Given the description of an element on the screen output the (x, y) to click on. 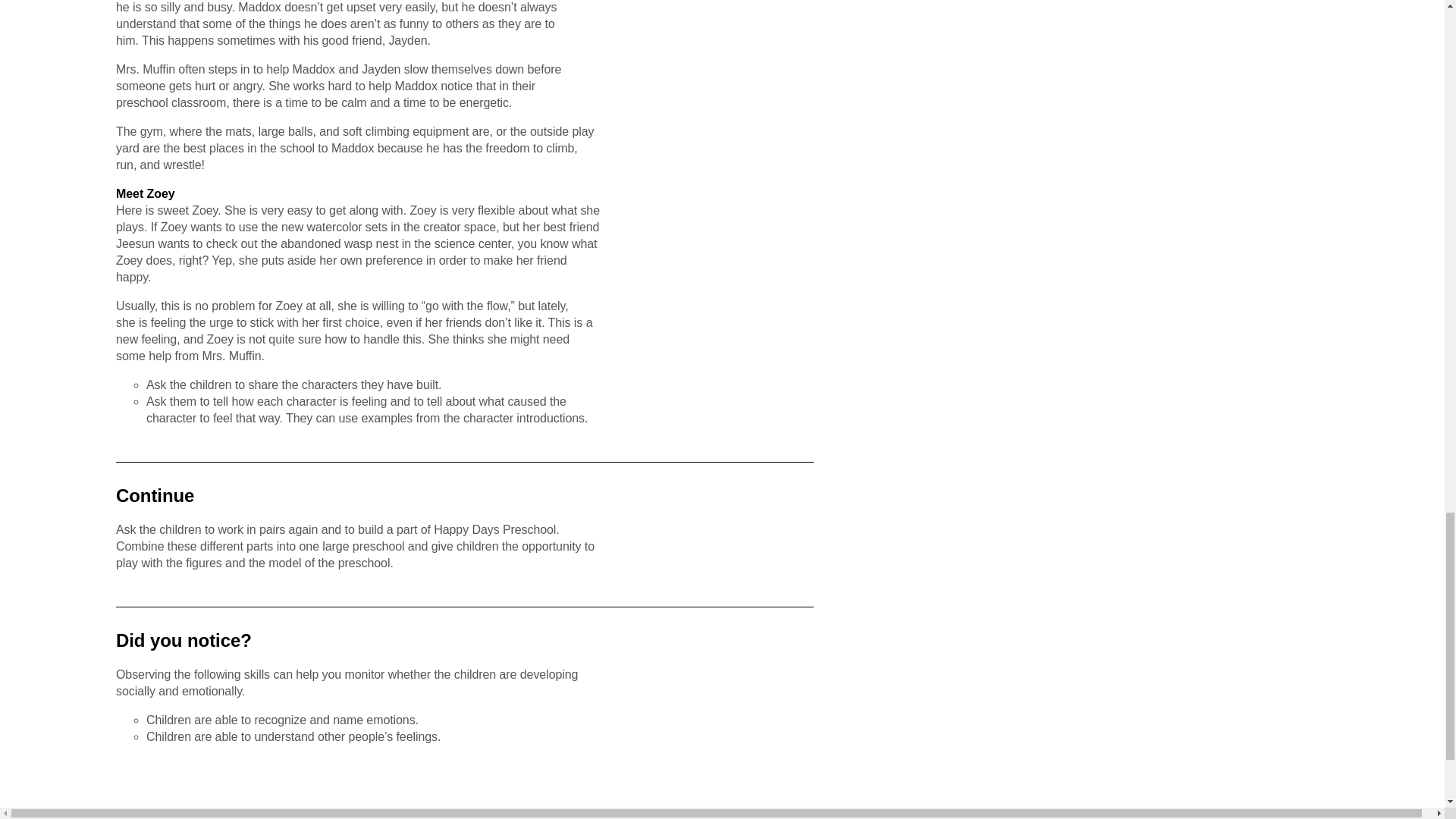
Legal Notice (255, 815)
Cookies (860, 815)
Cookie-instellingen (1171, 815)
Privacy Policy (563, 815)
